Given the description of an element on the screen output the (x, y) to click on. 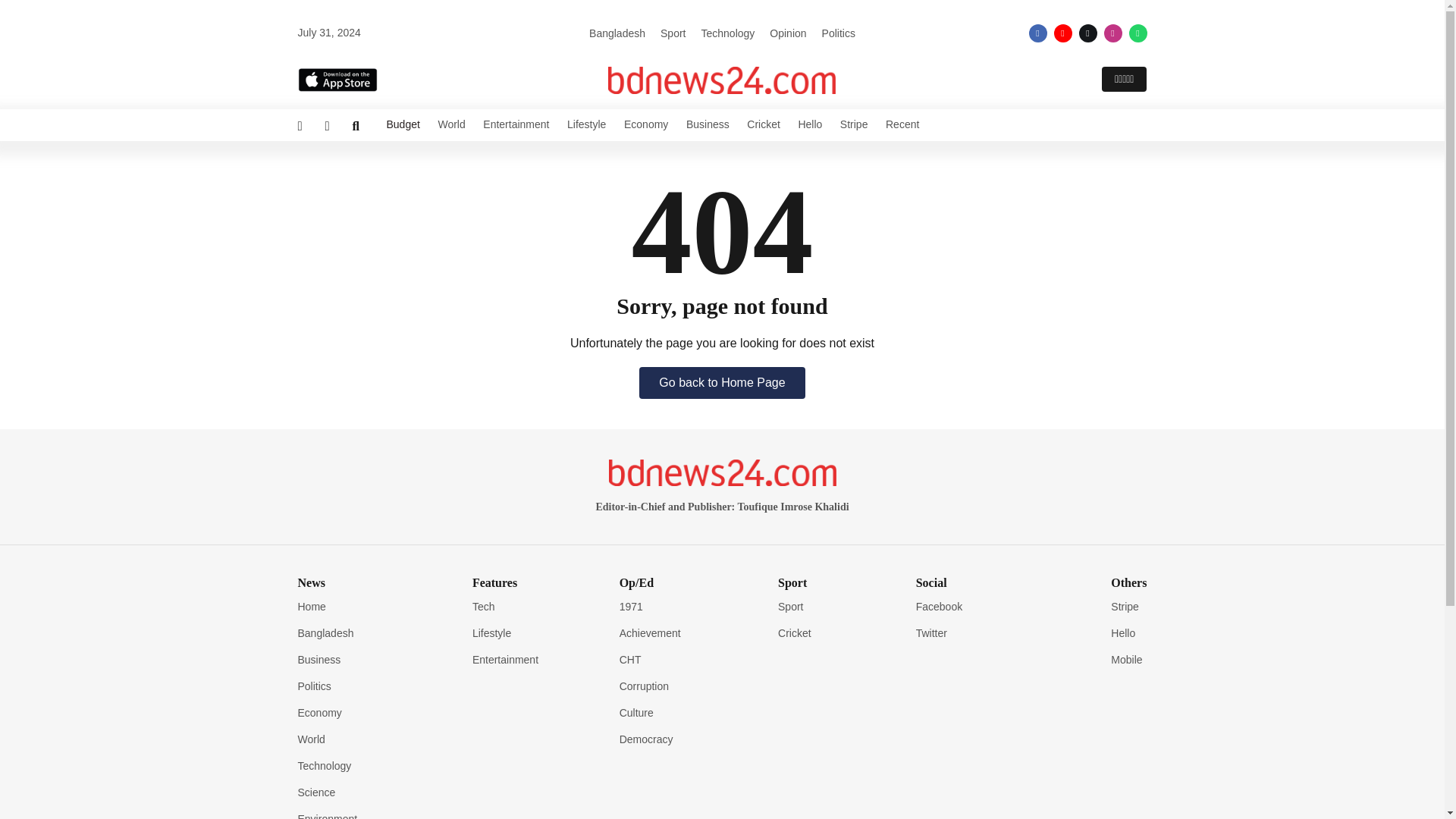
bdnews24.com (721, 80)
Sport (673, 33)
Bangladesh (617, 33)
